Given the description of an element on the screen output the (x, y) to click on. 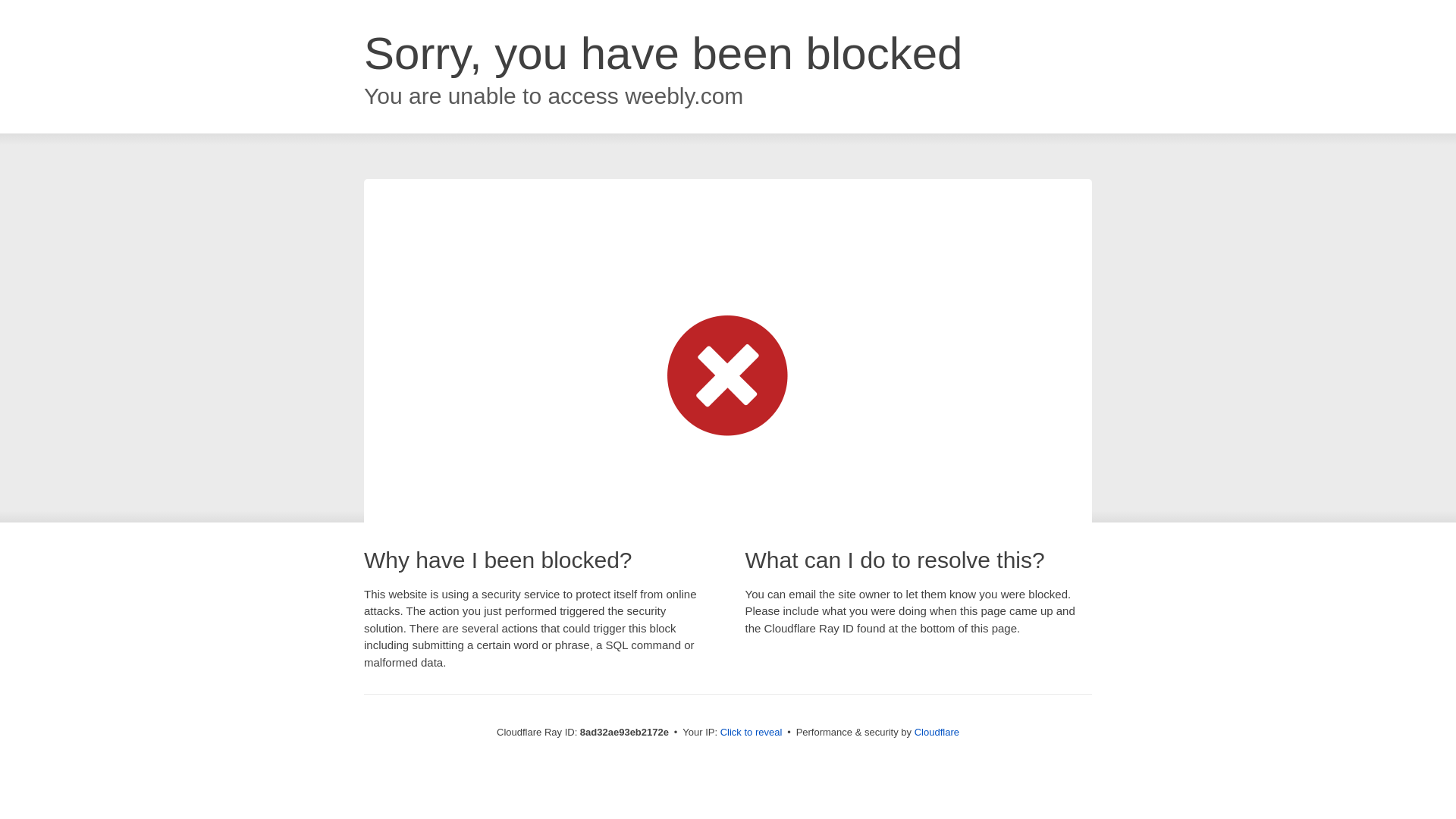
Click to reveal (751, 732)
Cloudflare (936, 731)
